Given the description of an element on the screen output the (x, y) to click on. 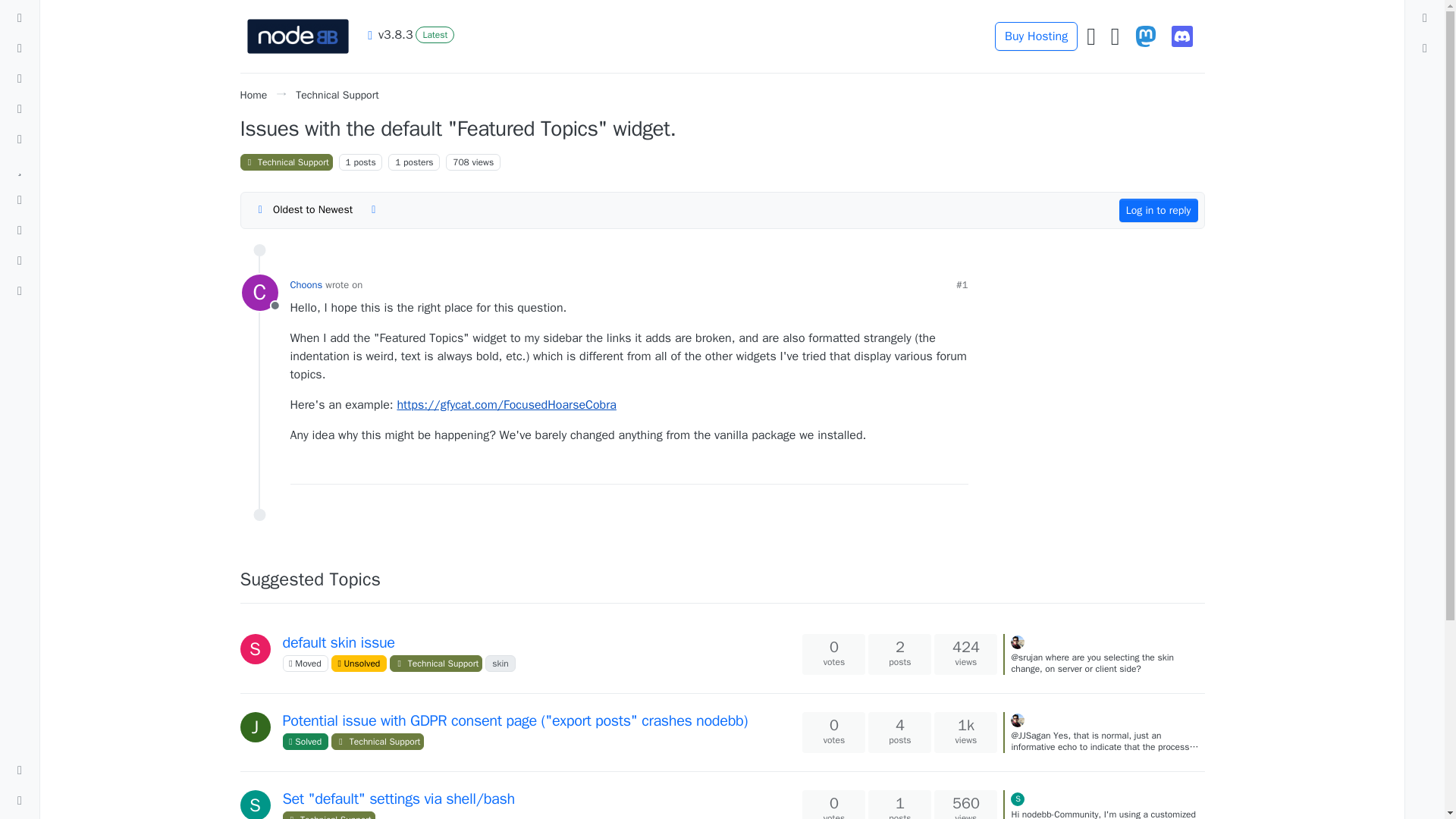
Choons (259, 292)
Brand Logo (297, 36)
708 (460, 162)
